Given the description of an element on the screen output the (x, y) to click on. 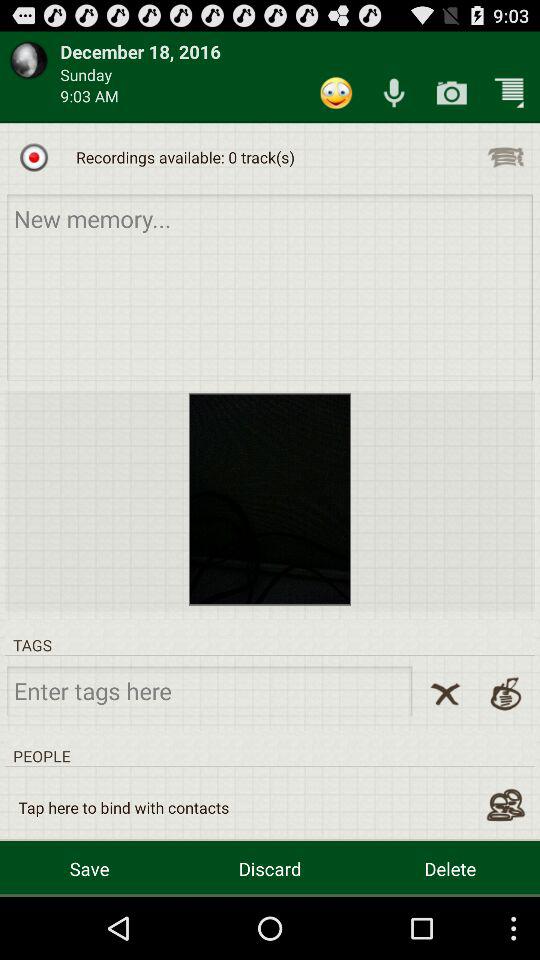
jump until delete button (450, 868)
